Given the description of an element on the screen output the (x, y) to click on. 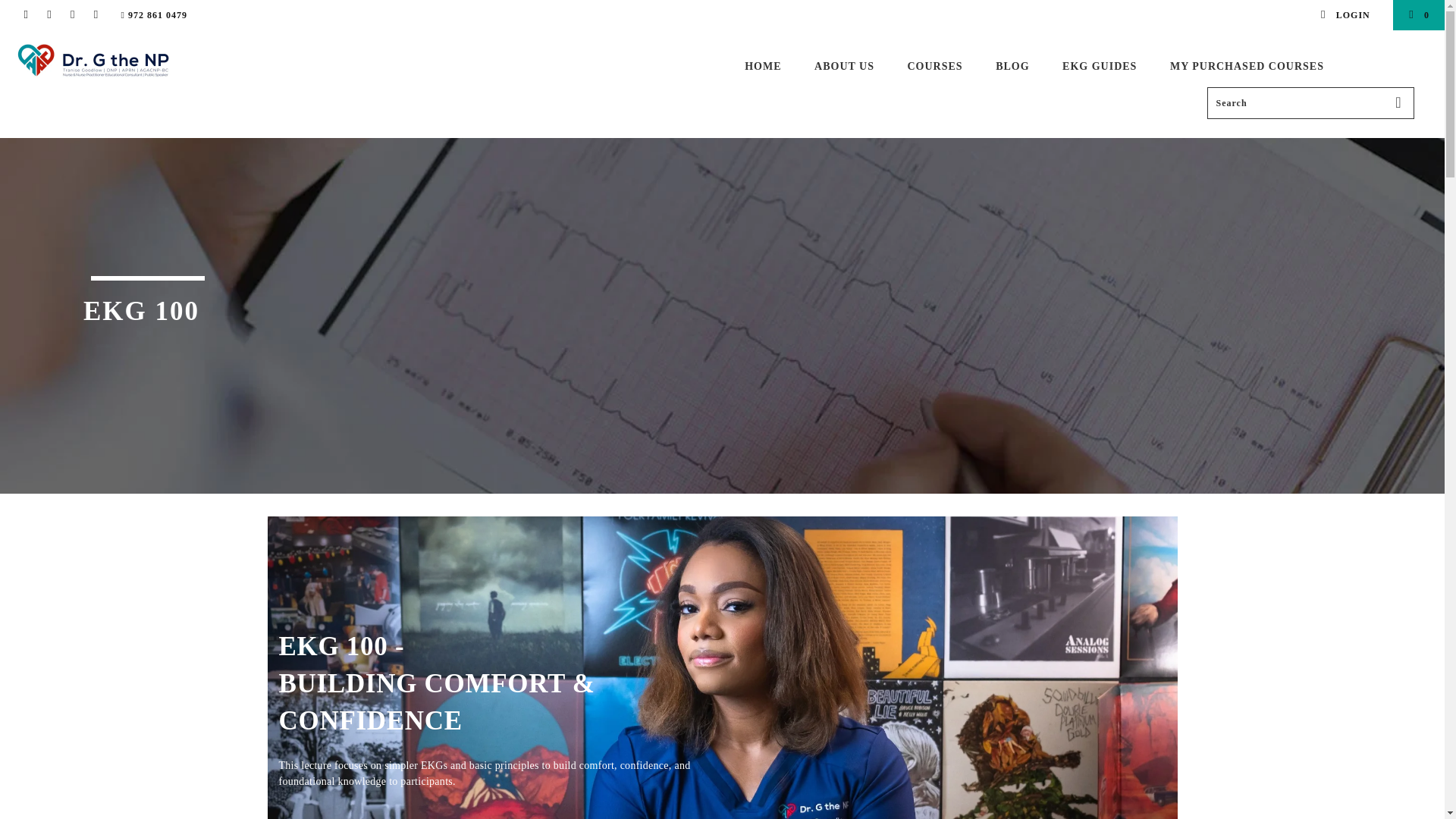
LOGIN (1344, 15)
ABOUT US (844, 67)
COURSES (934, 67)
DrGtheNP on Instagram (48, 14)
My Account  (1344, 15)
DrGtheNP (122, 60)
DrGtheNP on LinkedIn (71, 14)
Email DrGtheNP (94, 14)
HOME (762, 67)
DrGtheNP on Facebook (25, 14)
